Given the description of an element on the screen output the (x, y) to click on. 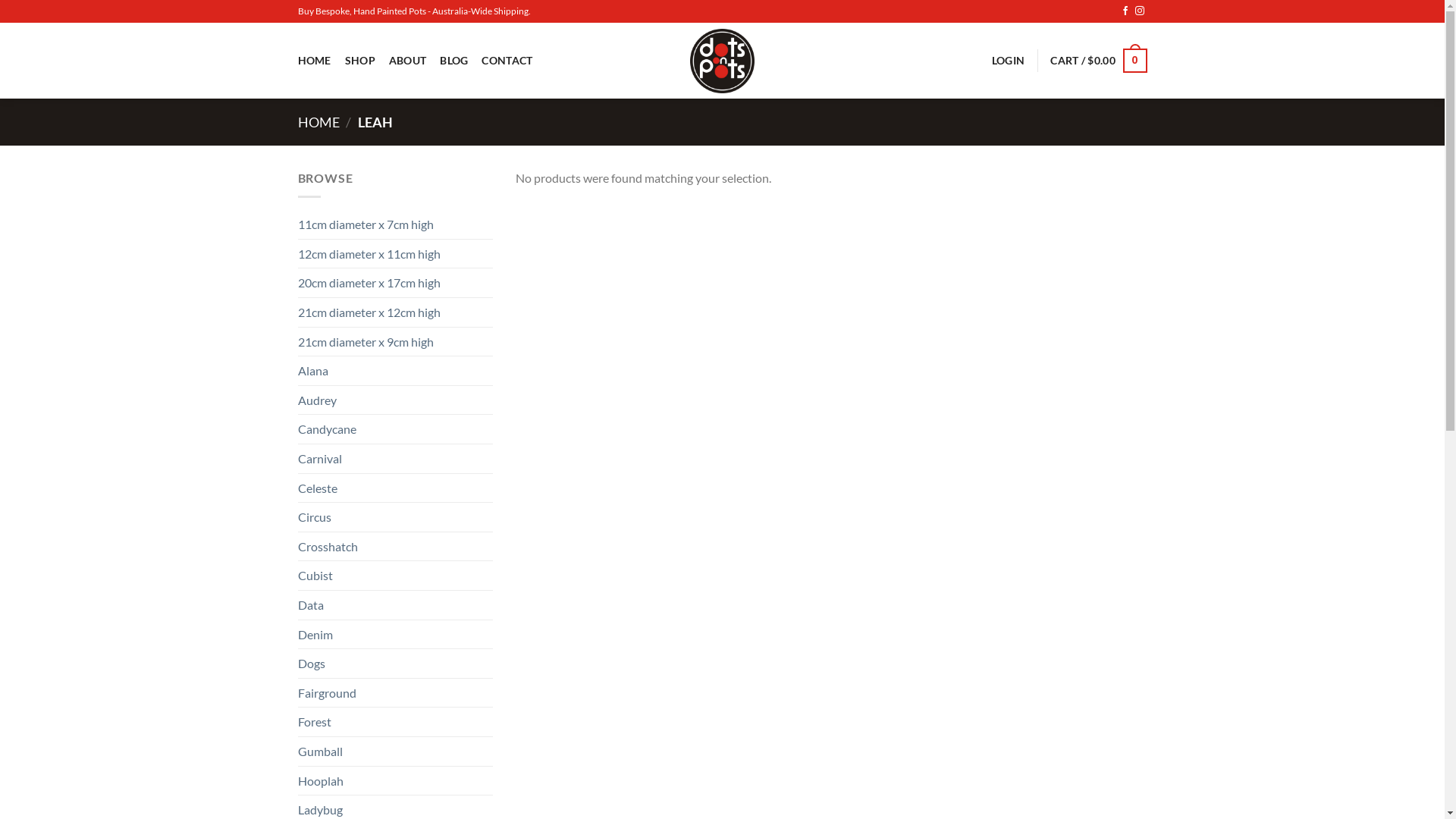
Audrey Element type: text (394, 399)
CART / $0.00
0 Element type: text (1098, 60)
Alana Element type: text (394, 370)
Celeste Element type: text (394, 487)
Data Element type: text (394, 604)
ABOUT Element type: text (407, 59)
Crosshatch Element type: text (394, 546)
21cm diameter x 9cm high Element type: text (394, 341)
Gumball Element type: text (394, 751)
BLOG Element type: text (453, 59)
Fairground Element type: text (394, 692)
LOGIN Element type: text (1007, 59)
Forest Element type: text (394, 721)
HOME Element type: text (317, 121)
Denim Element type: text (394, 634)
12cm diameter x 11cm high Element type: text (394, 253)
Circus Element type: text (394, 516)
21cm diameter x 12cm high Element type: text (394, 312)
Follow on Facebook Element type: hover (1124, 11)
Candycane Element type: text (394, 428)
Hooplah Element type: text (394, 779)
Dogs Element type: text (394, 663)
Follow on Instagram Element type: hover (1139, 11)
11cm diameter x 7cm high Element type: text (394, 224)
Carnival Element type: text (394, 458)
SHOP Element type: text (360, 59)
CONTACT Element type: text (506, 59)
Cubist Element type: text (394, 575)
20cm diameter x 17cm high Element type: text (394, 282)
HOME Element type: text (313, 59)
